Given the description of an element on the screen output the (x, y) to click on. 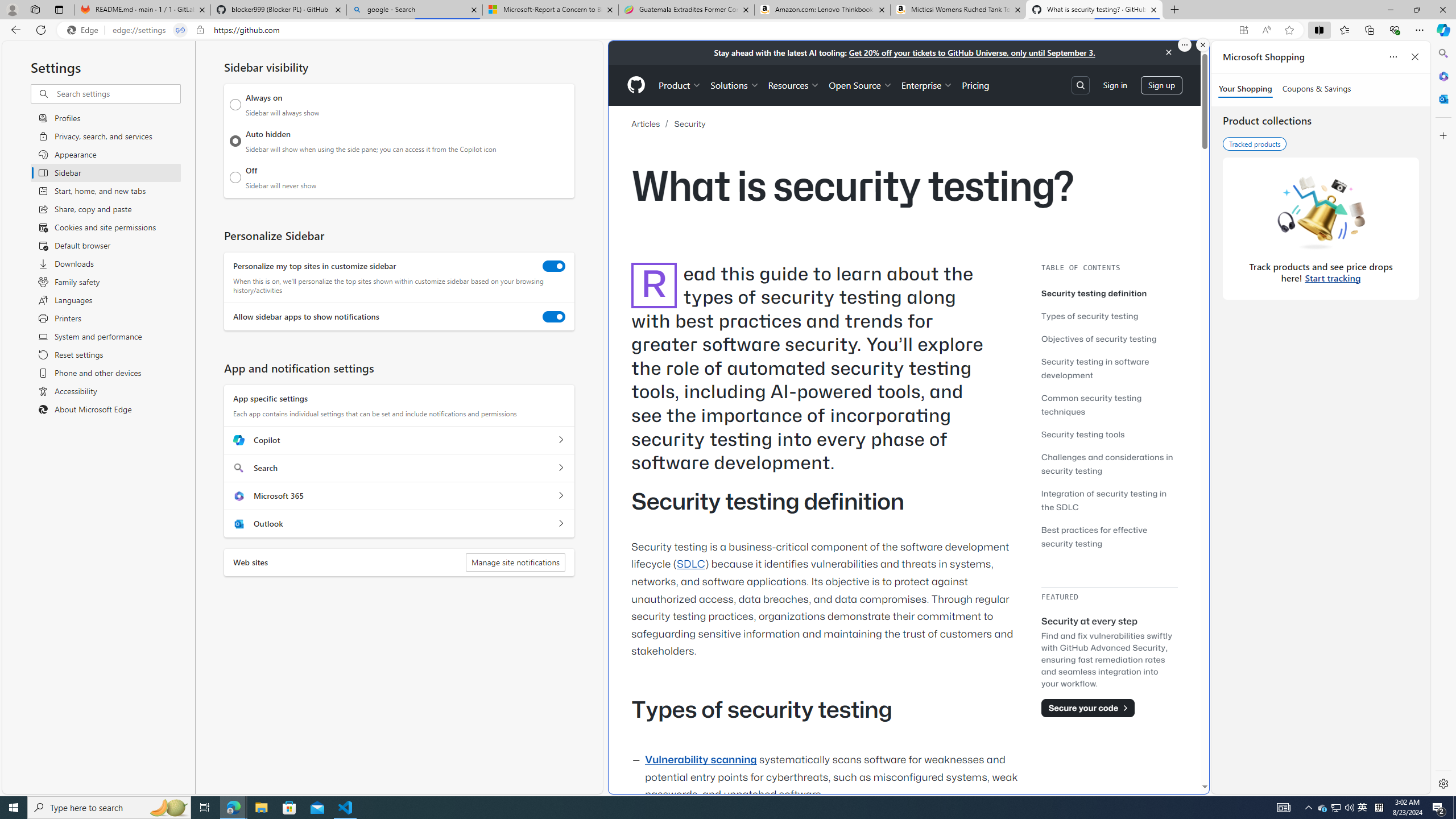
Solutions (735, 84)
Articles (652, 123)
Close split screen. (1202, 45)
Search settings (117, 93)
Objectives of security testing (1099, 338)
Objectives of security testing (1109, 338)
Product (679, 84)
Enterprise (927, 84)
Solutions (735, 84)
